Given the description of an element on the screen output the (x, y) to click on. 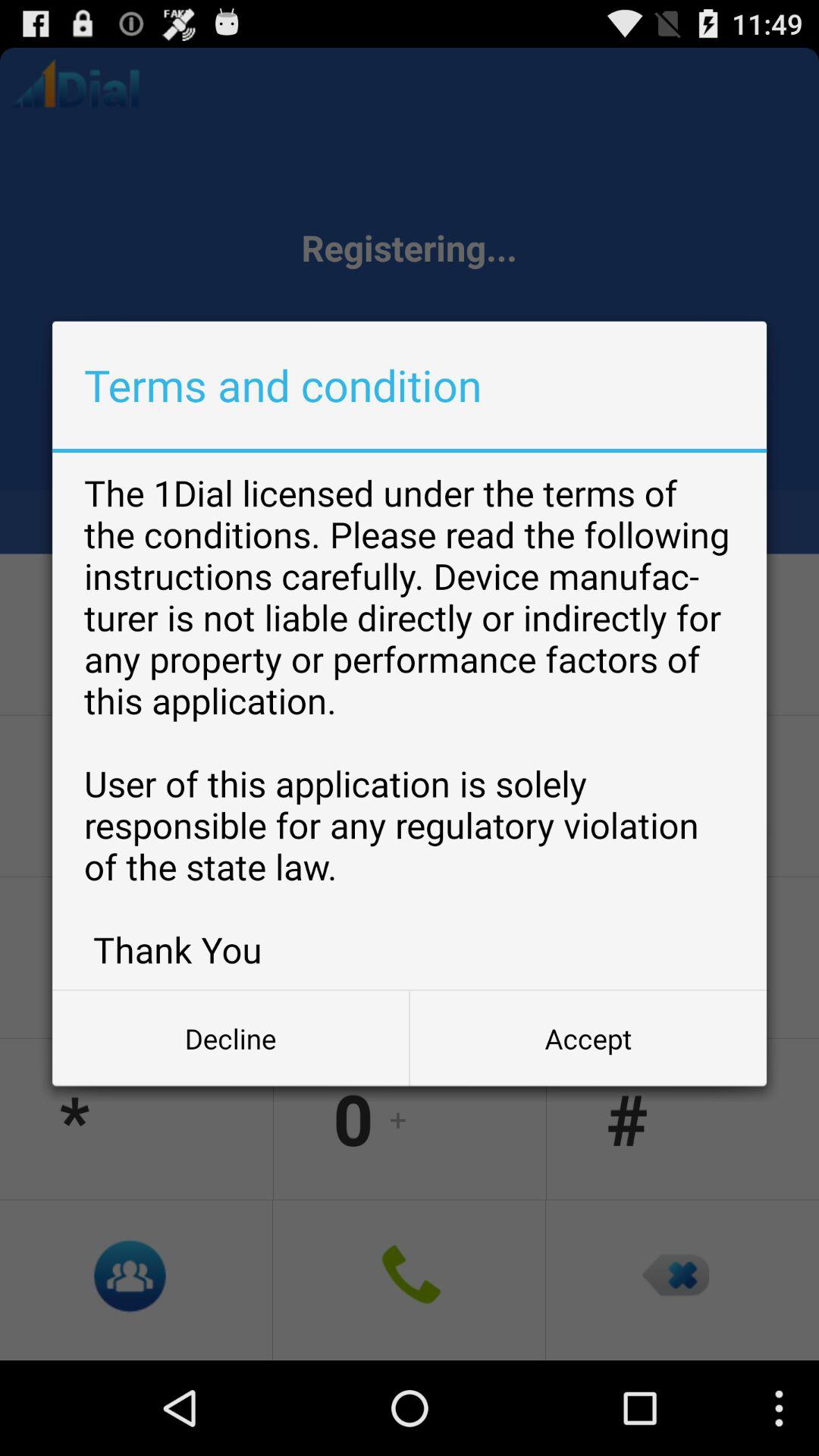
select the accept item (588, 1038)
